Given the description of an element on the screen output the (x, y) to click on. 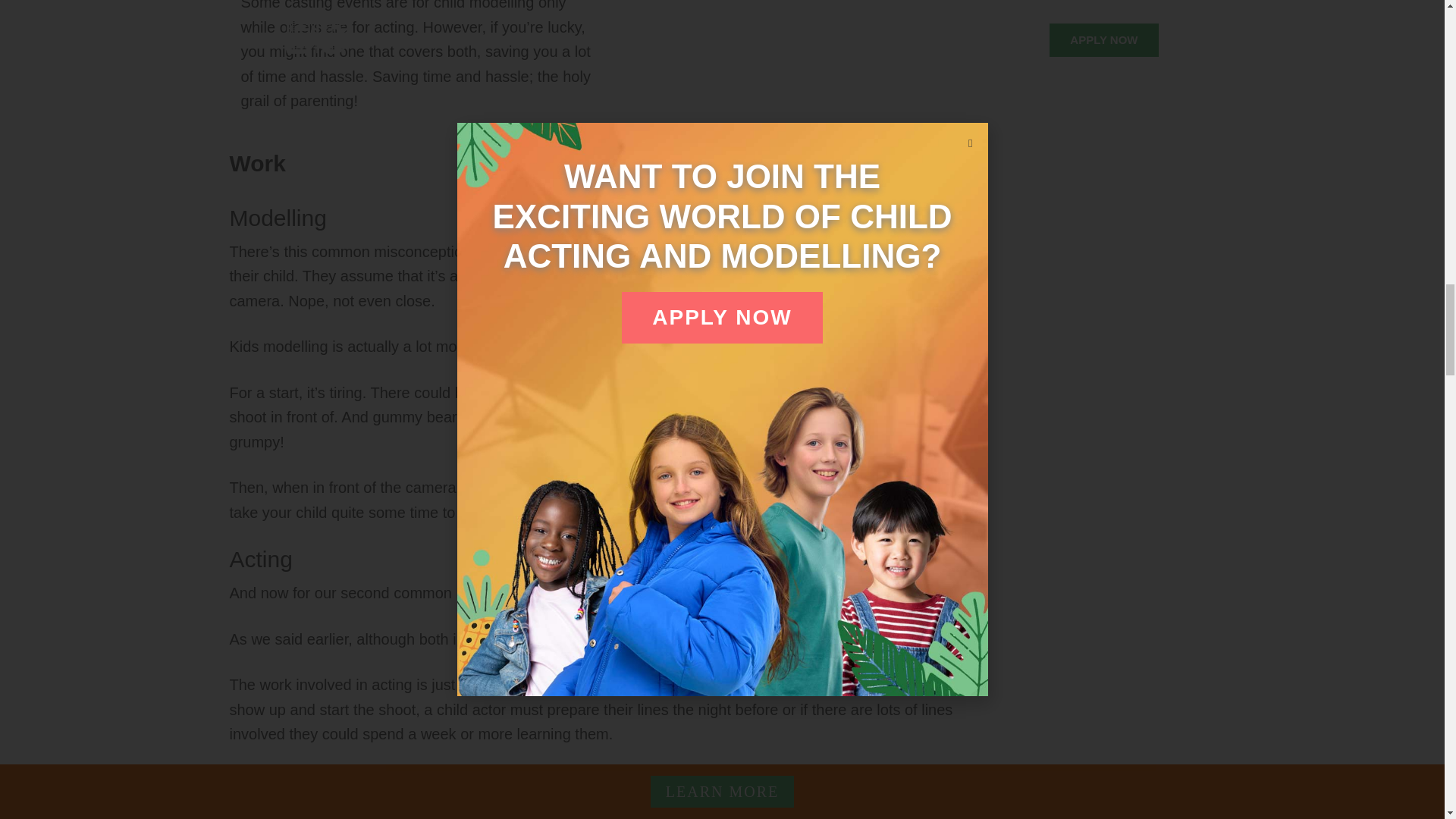
modeling and acting (800, 17)
